Given the description of an element on the screen output the (x, y) to click on. 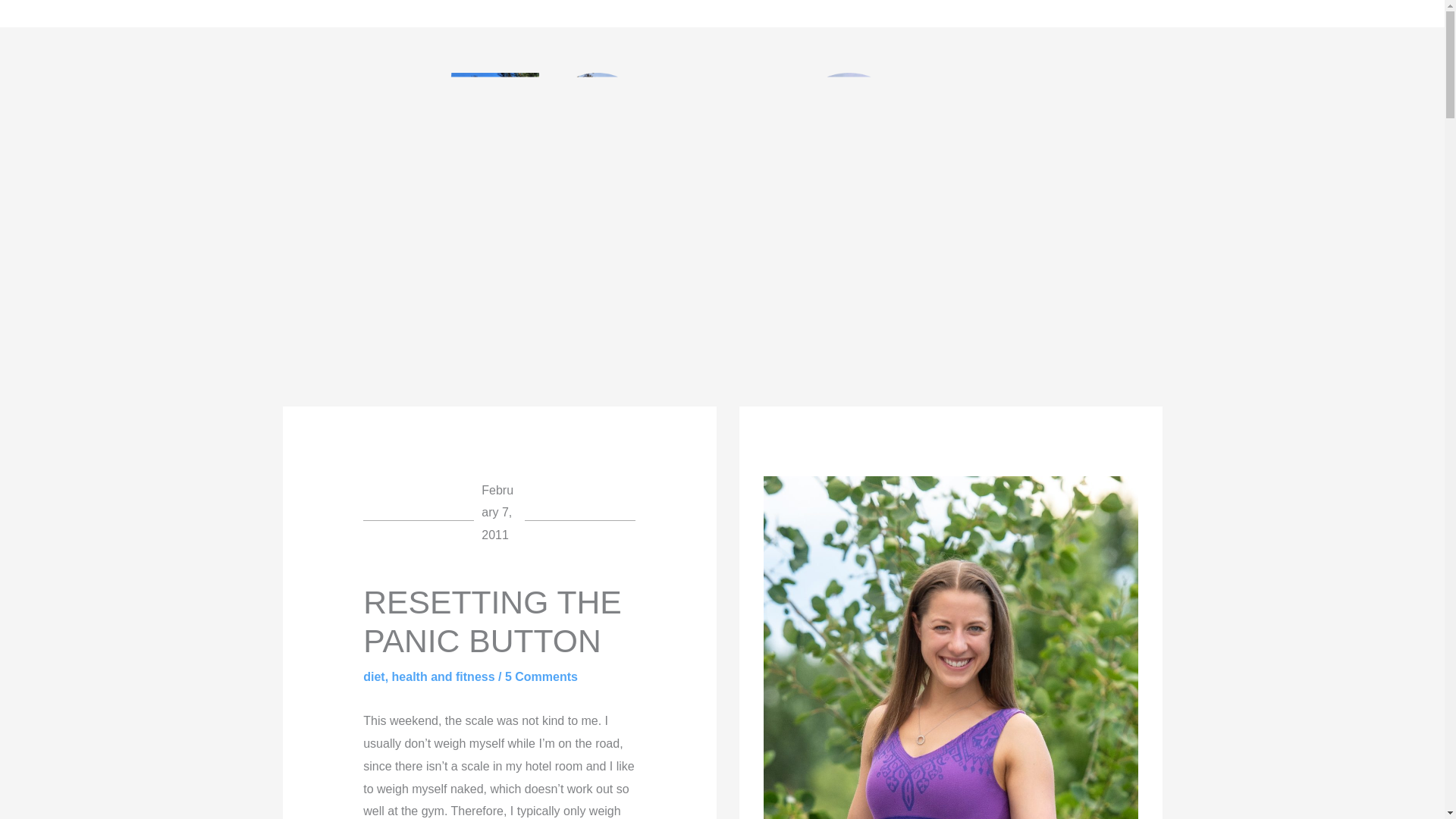
CONTACT (676, 13)
HOME (52, 13)
RACE REPORTS (544, 13)
diet (373, 676)
5 Comments (541, 676)
health and fitness (443, 676)
TOP POSTS (257, 13)
ABOUT ME (144, 13)
MARATHON FAQ (389, 13)
